Given the description of an element on the screen output the (x, y) to click on. 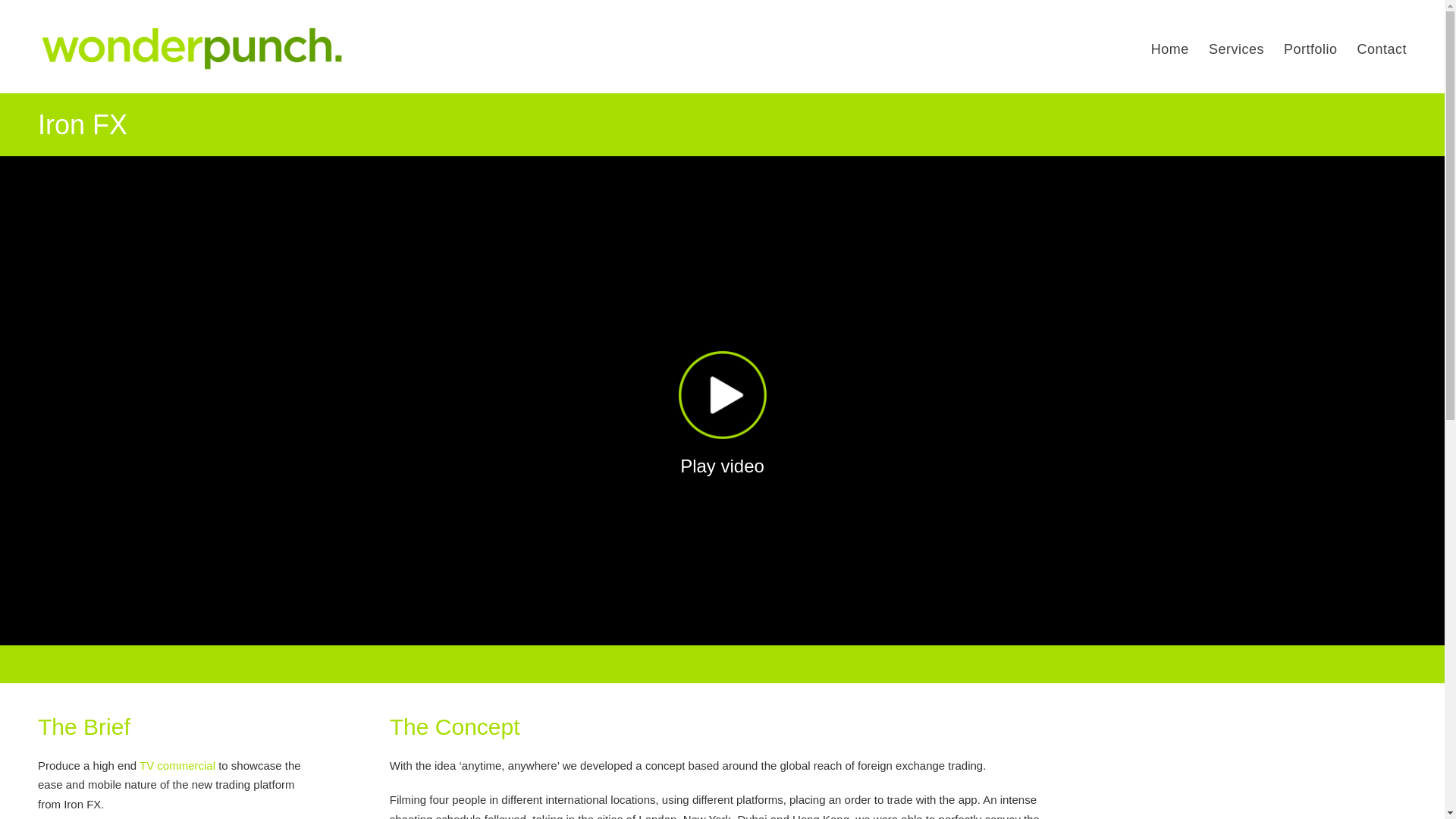
Contact (1381, 54)
Home (1170, 54)
TV commercial (177, 765)
Portfolio (1311, 54)
wonderpunch logo video production company (191, 48)
Services (1235, 54)
